Given the description of an element on the screen output the (x, y) to click on. 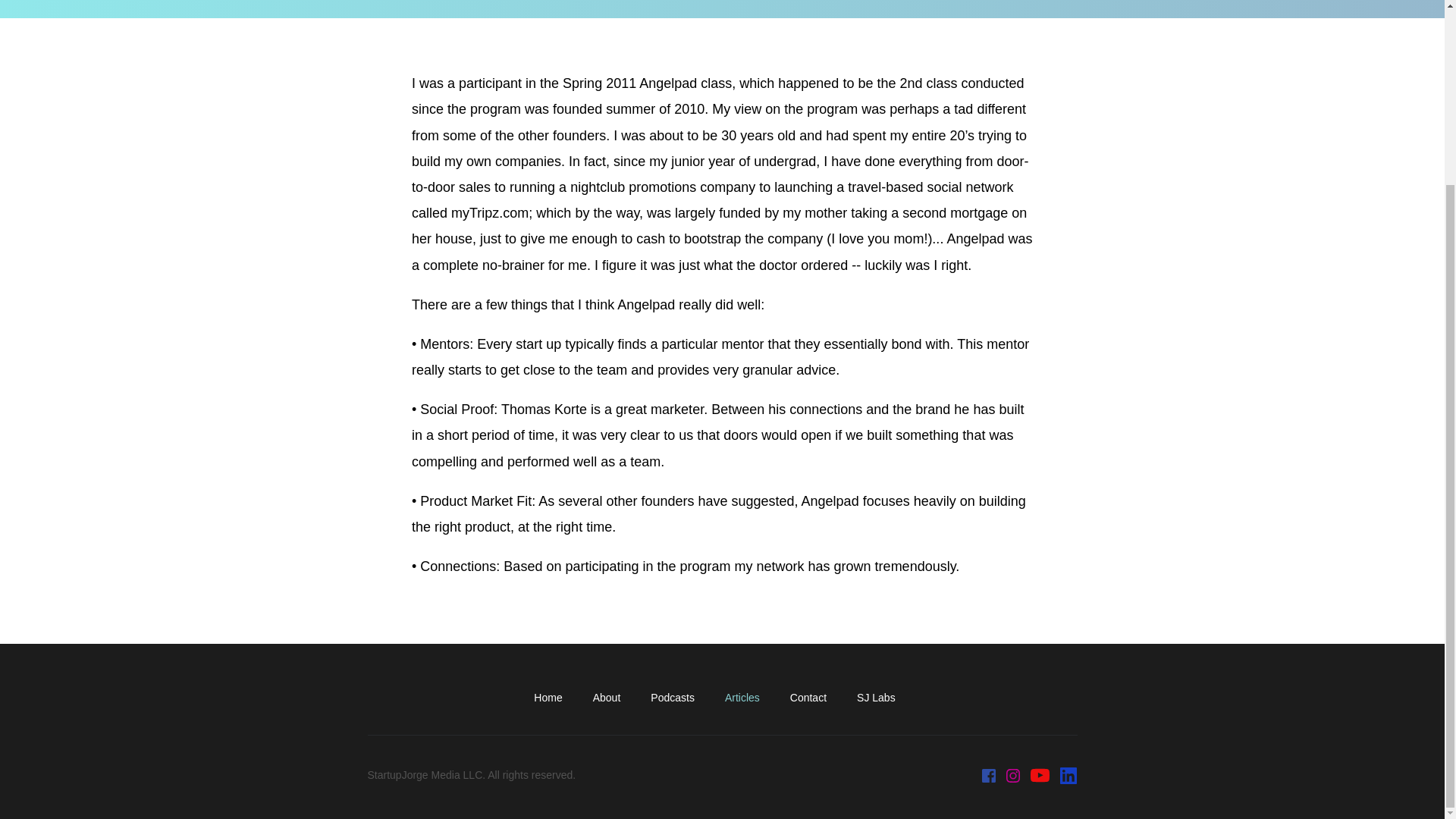
Podcasts (679, 697)
Contact (815, 697)
Home (554, 697)
SJ Labs (883, 697)
Articles (749, 697)
About (614, 697)
